Given the description of an element on the screen output the (x, y) to click on. 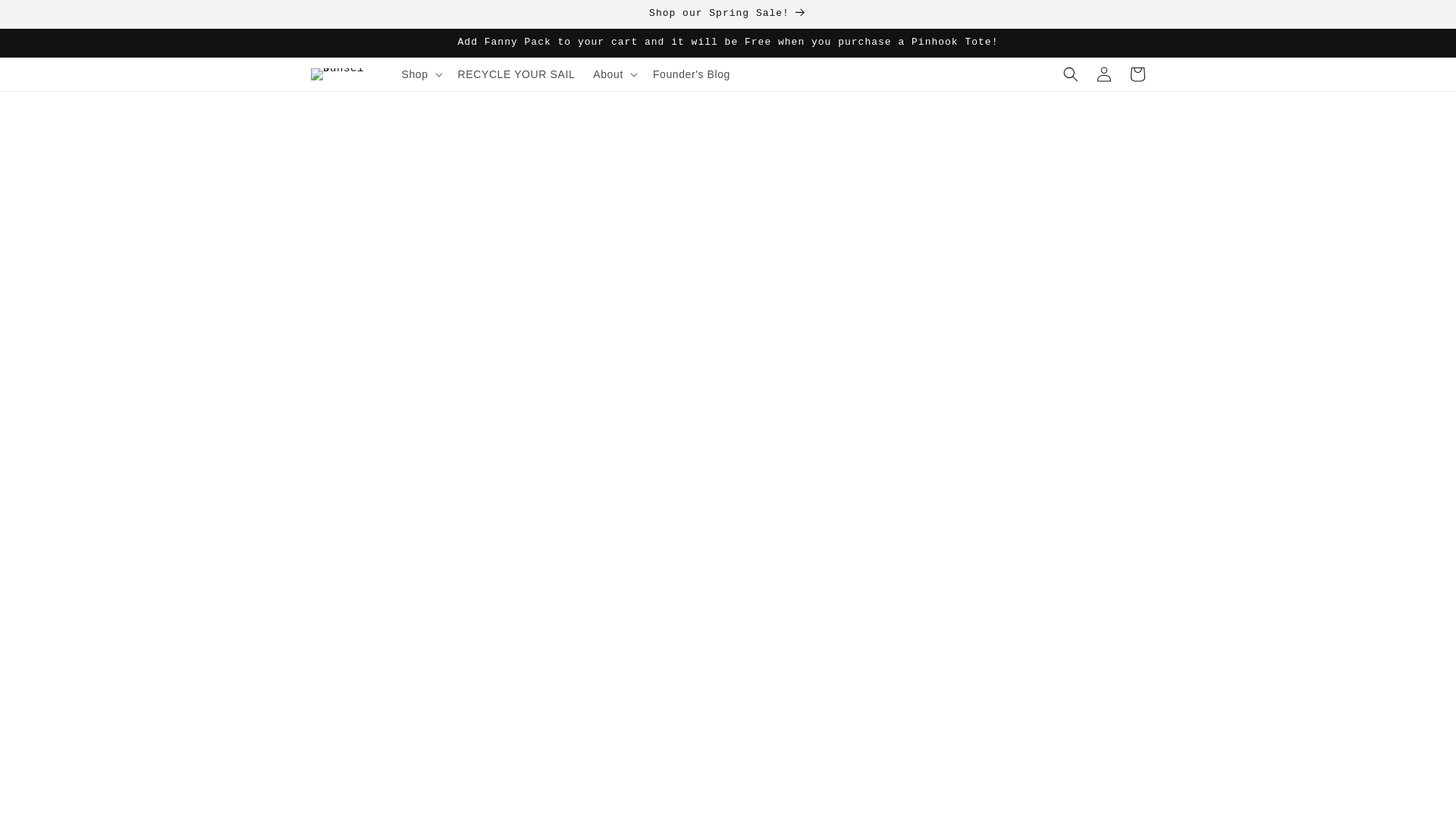
RECYCLE YOUR SAIL (516, 74)
Skip to content (45, 17)
Founder's Blog (691, 74)
Cart (1137, 73)
Log in (1104, 73)
